Given the description of an element on the screen output the (x, y) to click on. 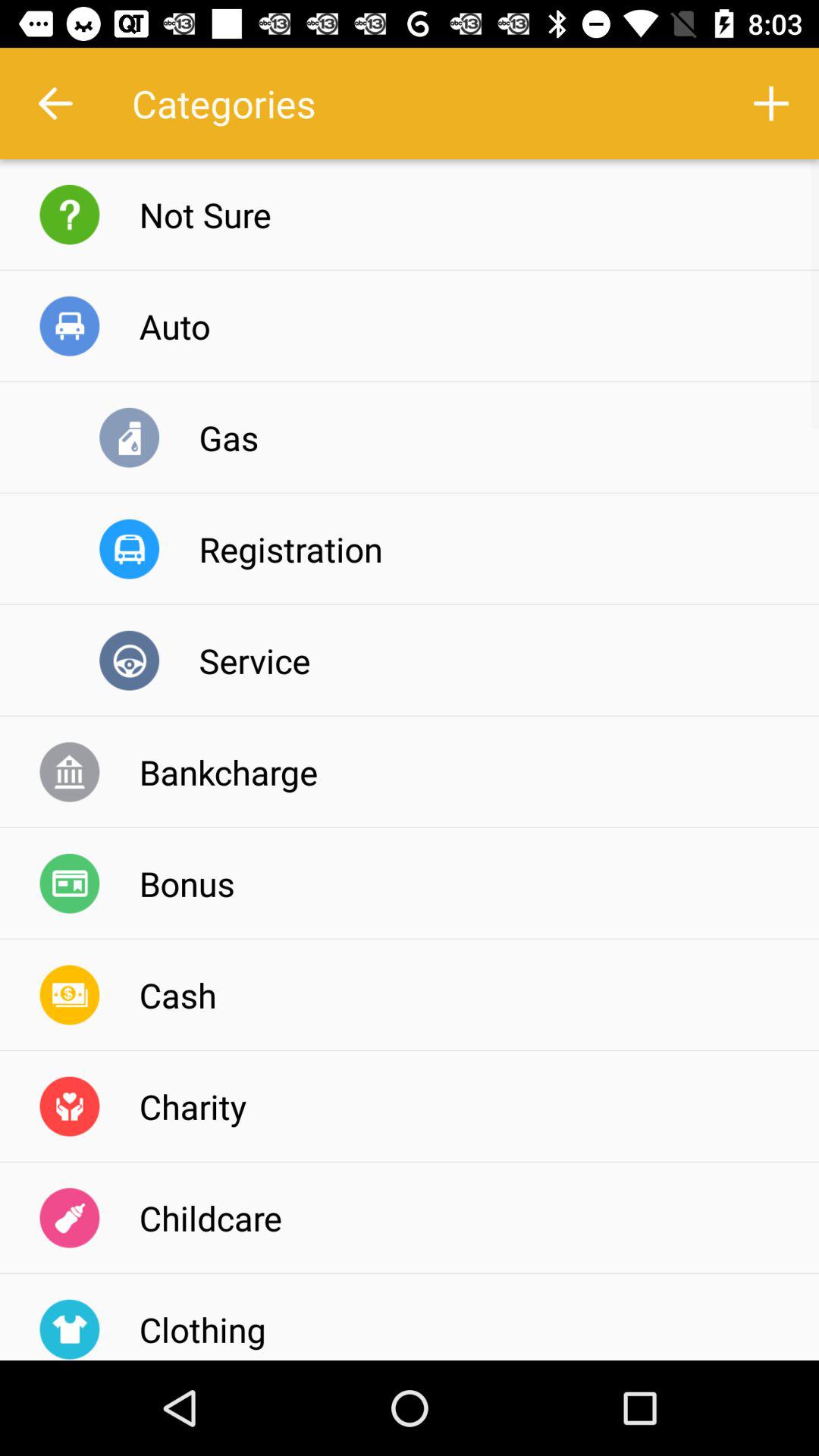
launch the icon next to the categories (771, 103)
